Given the description of an element on the screen output the (x, y) to click on. 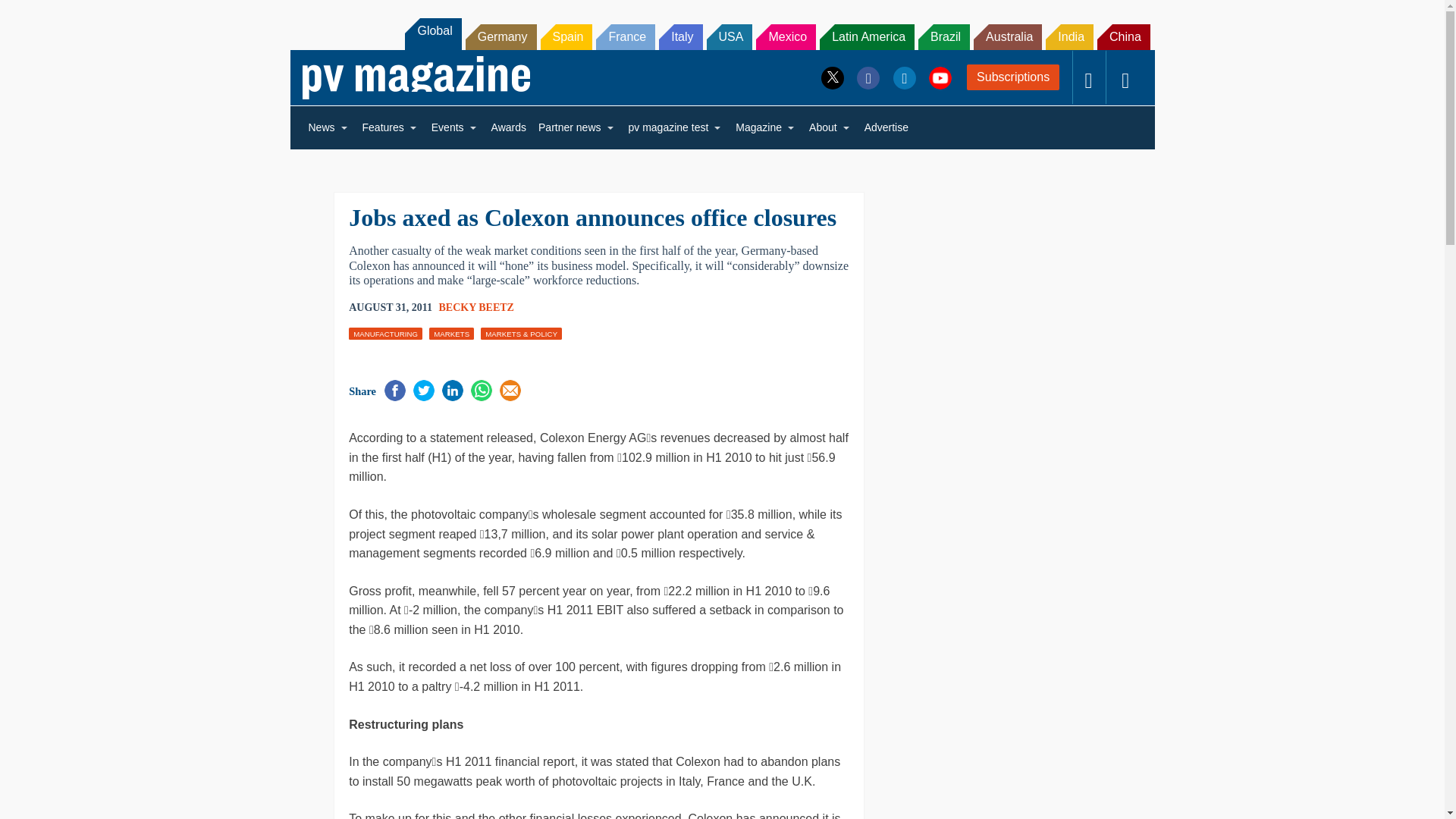
India (1069, 36)
France (625, 36)
Subscriptions (1012, 77)
Germany (501, 36)
pv magazine - Photovoltaics Markets and Technology (415, 77)
Australia (1008, 36)
Wednesday, August 31, 2011, 12:00 am (390, 307)
Italy (680, 36)
Mexico (785, 36)
China (1123, 36)
pv magazine - Photovoltaics Markets and Technology (415, 77)
USA (729, 36)
Brazil (943, 36)
Posts by Becky Beetz (475, 307)
